Given the description of an element on the screen output the (x, y) to click on. 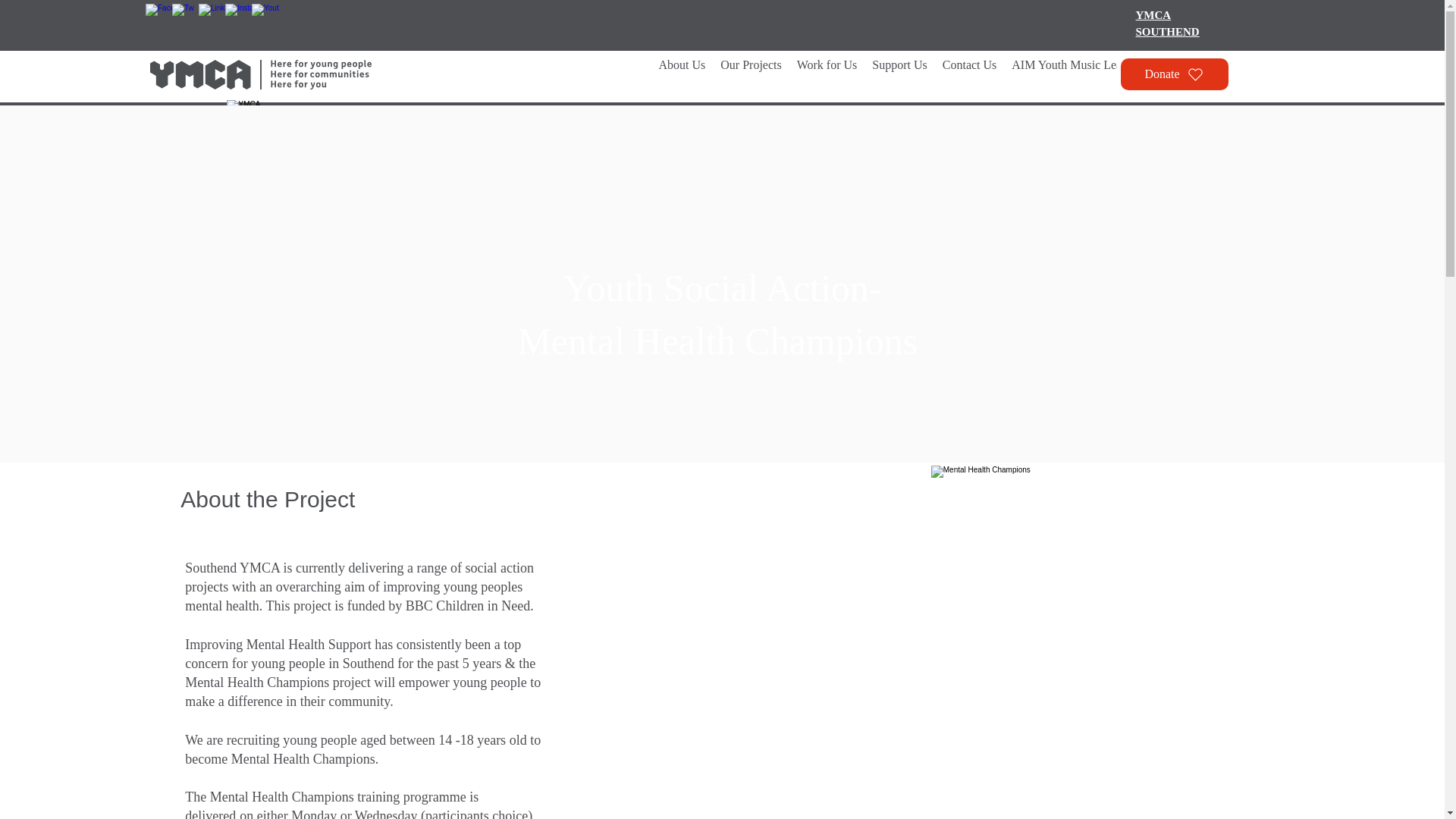
Work for Us (826, 76)
AIM Youth Music Leaders (1077, 76)
Donate (1174, 74)
Support Us (899, 76)
About Us (681, 76)
Our Projects (751, 76)
YMCA SOUTHEND (721, 314)
Contact Us (1167, 22)
